Given the description of an element on the screen output the (x, y) to click on. 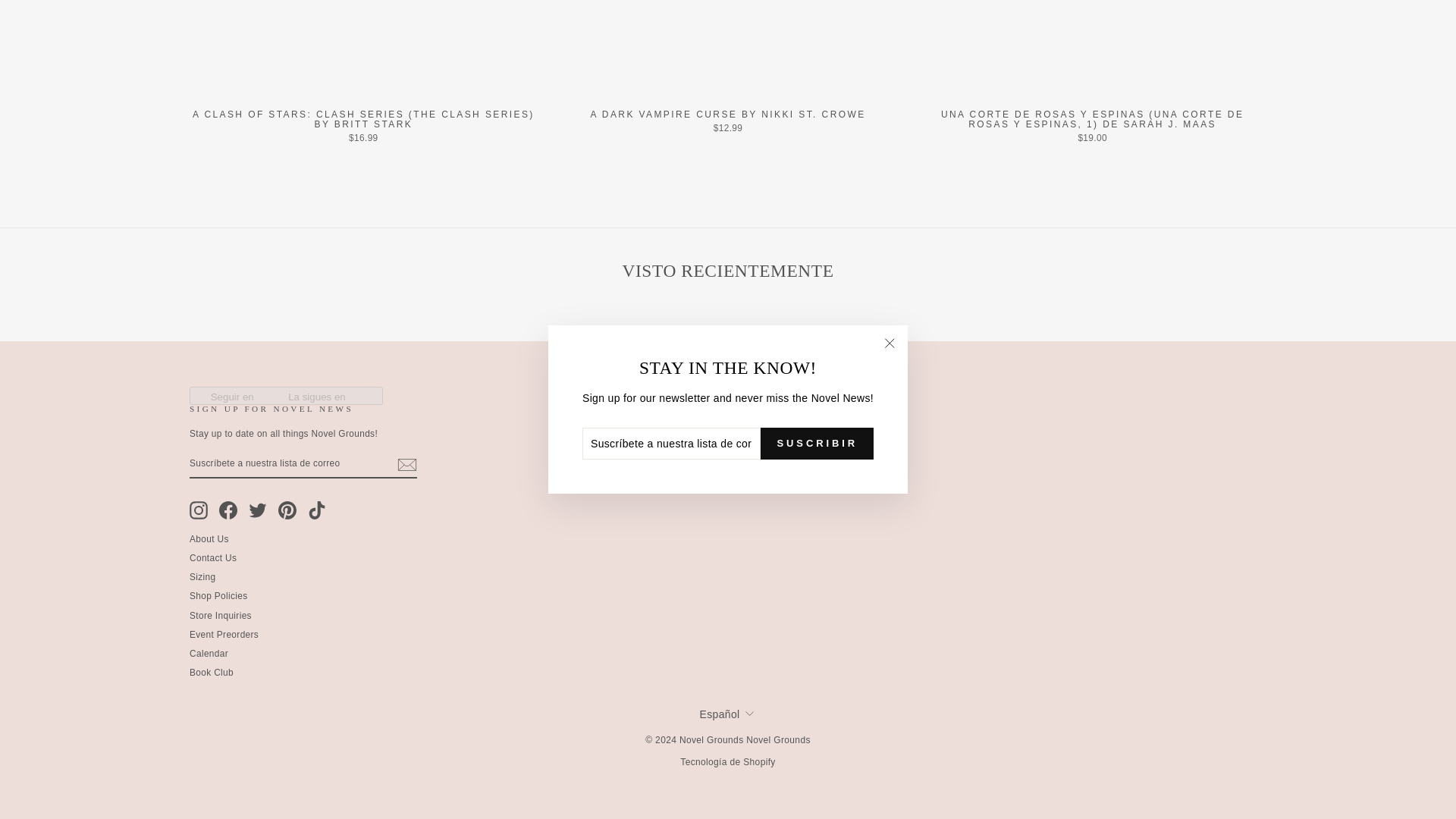
Novel Grounds en Twitter (257, 510)
Novel Grounds en Instagram (198, 510)
